Given the description of an element on the screen output the (x, y) to click on. 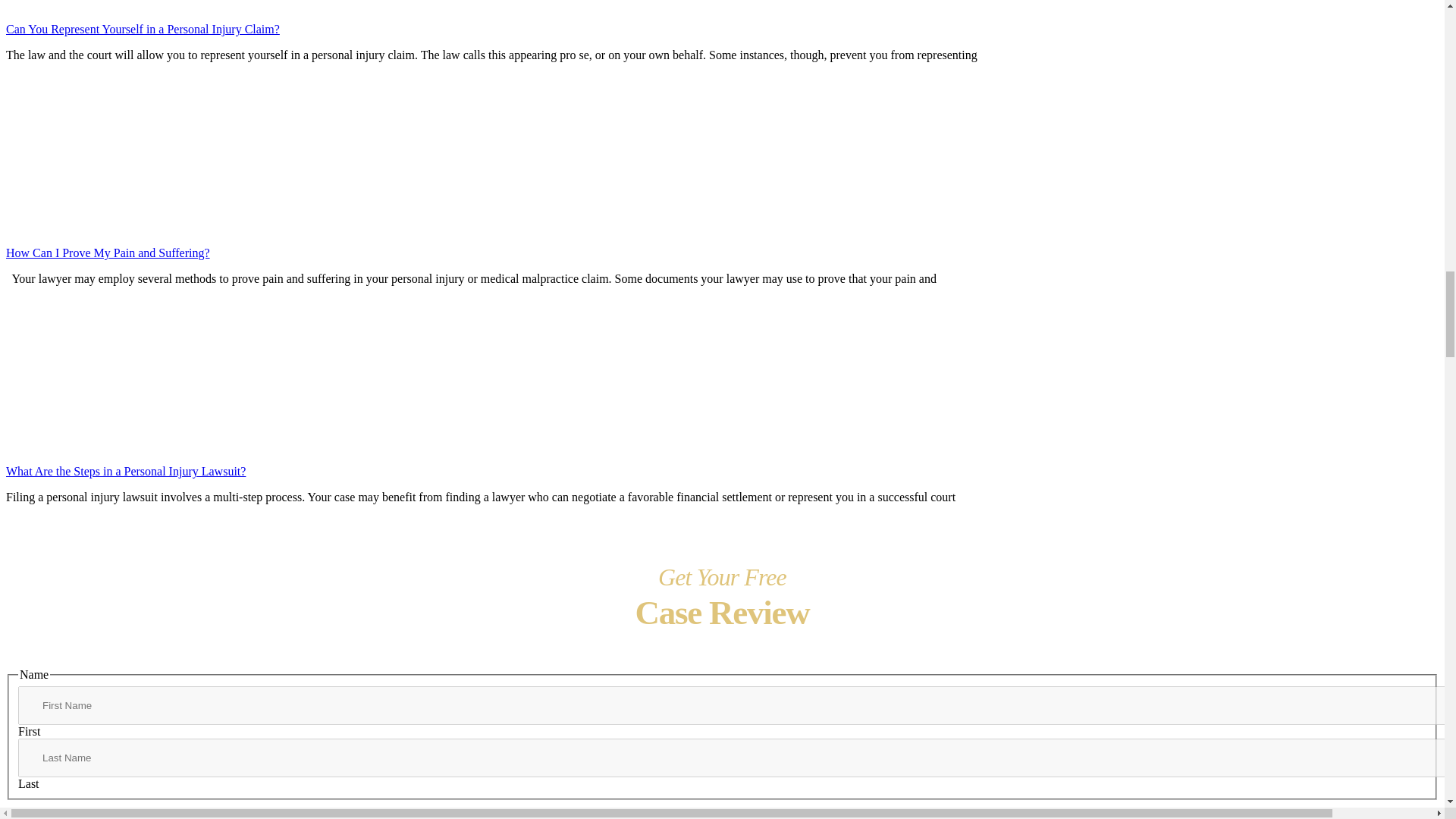
What Are the Steps in a Personal Injury Lawsuit (149, 373)
Can You Represent Yourself in a Personal Injury Claim? (721, 18)
